Given the description of an element on the screen output the (x, y) to click on. 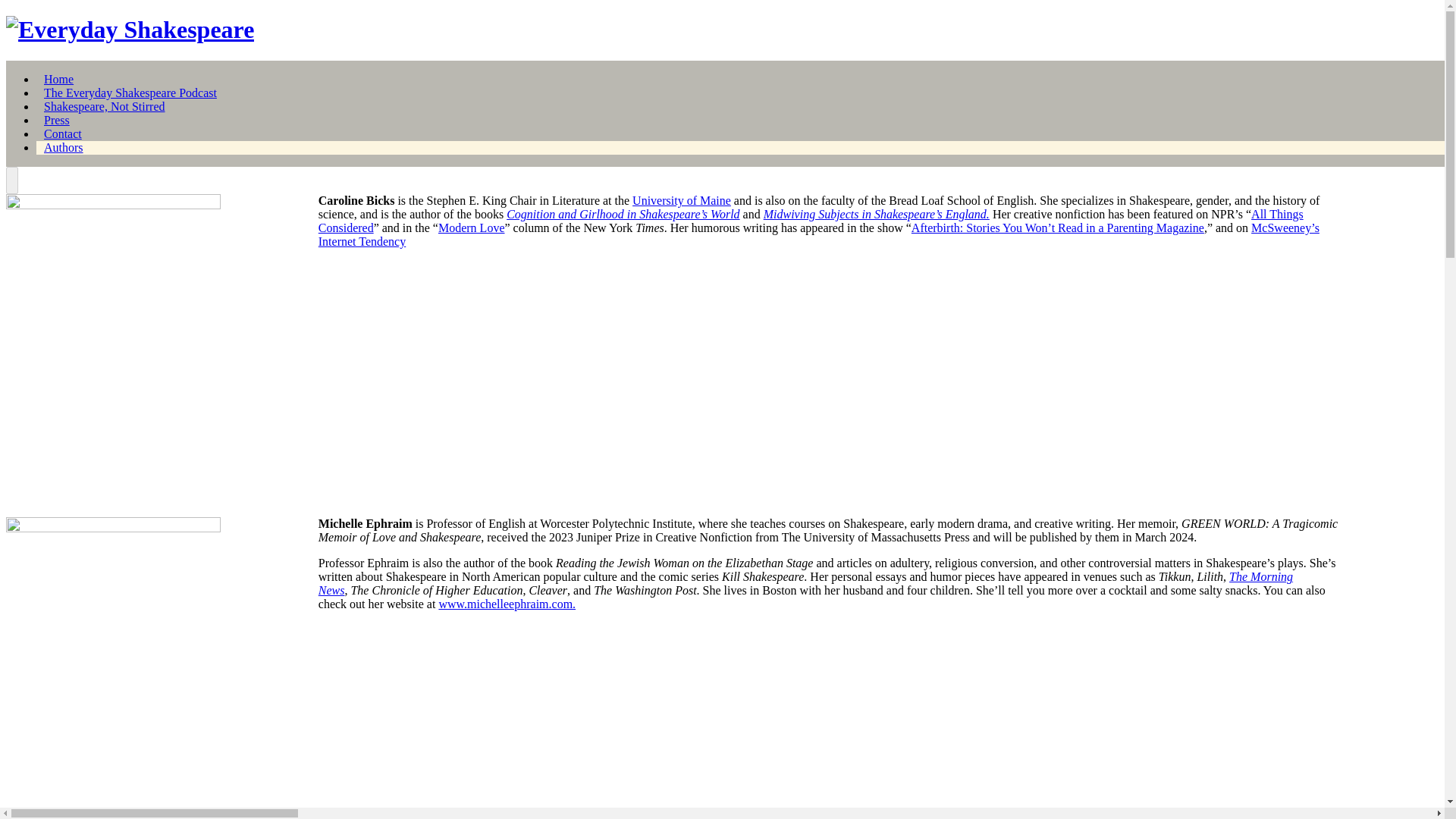
Modern Love (471, 227)
www.michelleephraim.com. (506, 603)
Shakespeare, Not Stirred (104, 106)
Authors (62, 146)
The Everyday Shakespeare Podcast (129, 92)
The Morning News (805, 583)
University of Maine (680, 200)
Press (56, 119)
All Things Considered (810, 221)
